Given the description of an element on the screen output the (x, y) to click on. 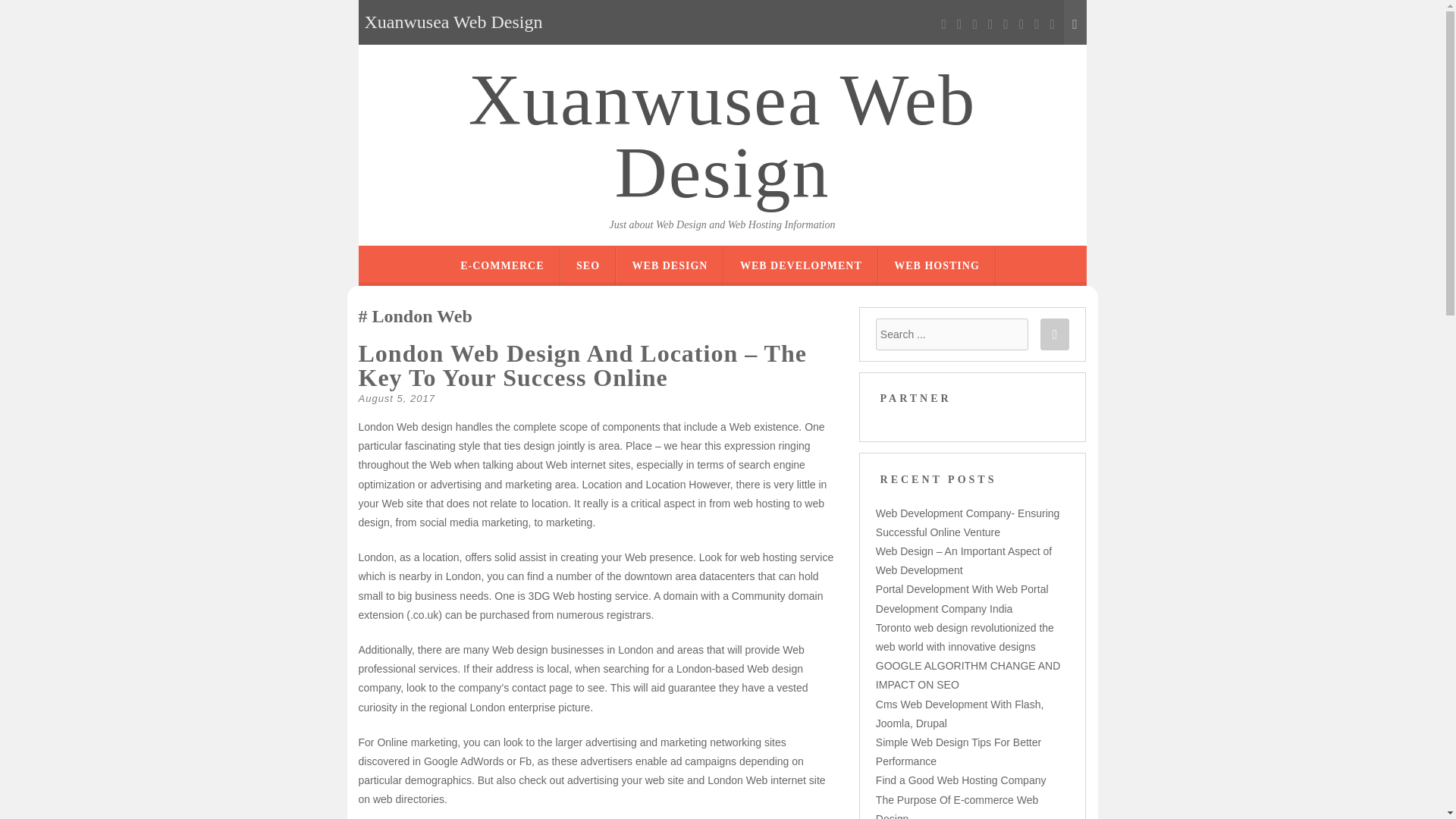
The Purpose Of E-commerce Web Design (957, 806)
E-COMMERCE (501, 265)
Portal Development With Web Portal Development Company India (962, 598)
WEB DEVELOPMENT (800, 265)
Find a Good Web Hosting Company (961, 779)
Web Development Company- Ensuring Successful Online Venture (967, 522)
Xuanwusea Web Design (722, 136)
WEB HOSTING (936, 265)
GOOGLE ALGORITHM CHANGE AND IMPACT ON SEO (968, 675)
August 5, 2017 (395, 398)
SKIP TO CONTENT (775, 255)
Simple Web Design Tips For Better Performance (958, 751)
WEB DESIGN (669, 265)
Cms Web Development With Flash, Joomla, Drupal (959, 713)
